Given the description of an element on the screen output the (x, y) to click on. 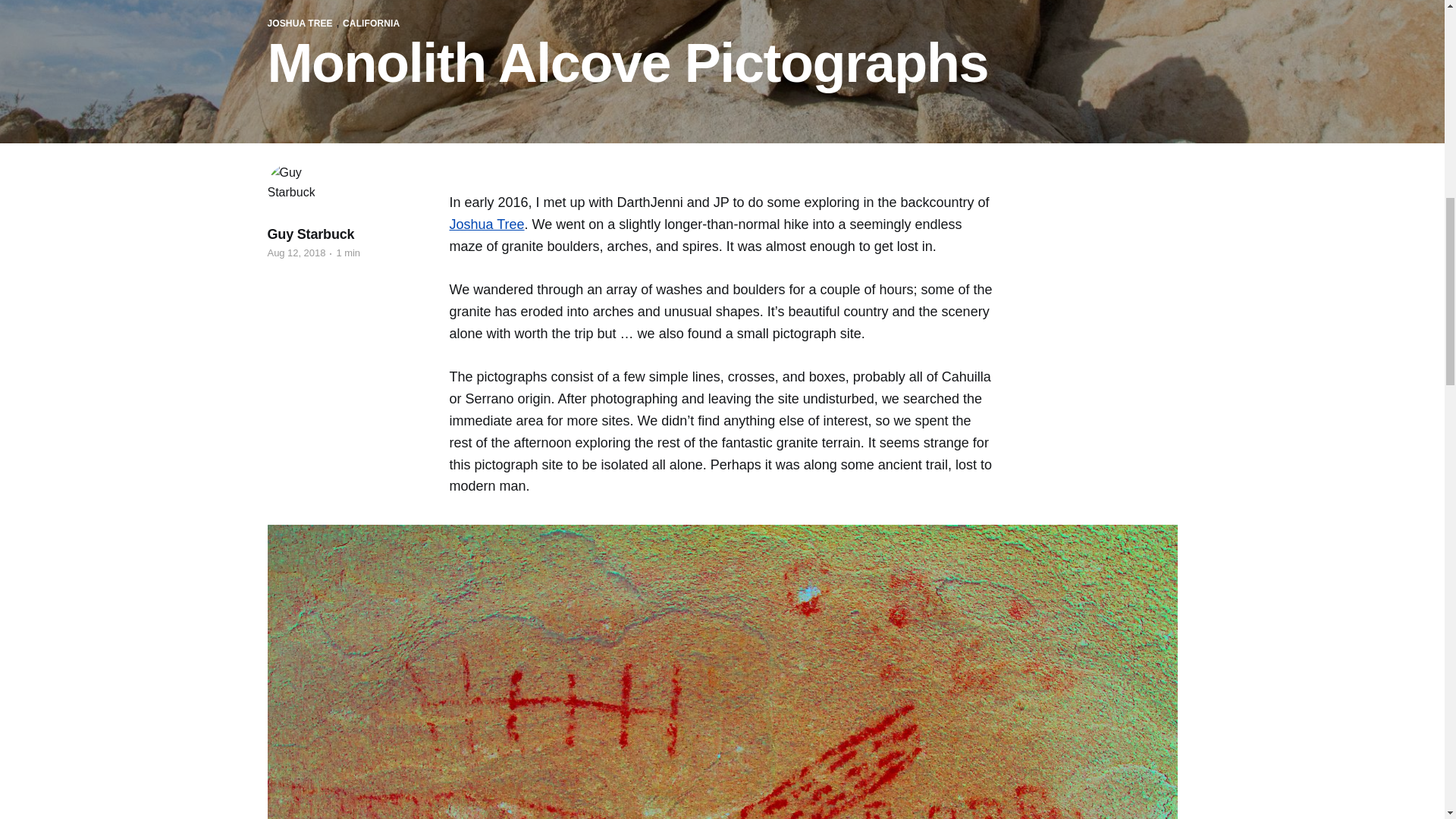
Guy Starbuck (309, 234)
Joshua Tree (486, 224)
